Given the description of an element on the screen output the (x, y) to click on. 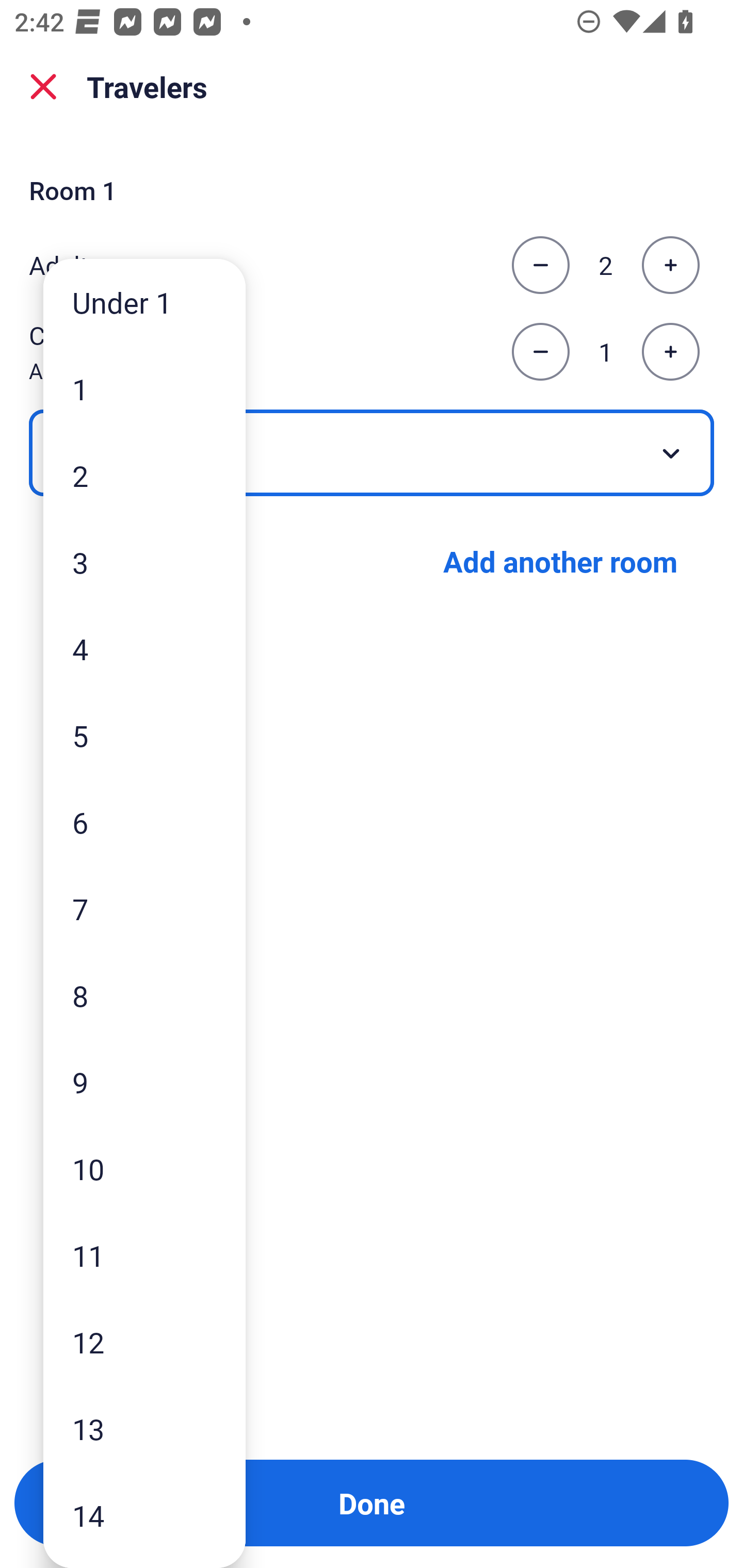
Under 1 (144, 301)
1 (144, 388)
2 (144, 475)
3 (144, 562)
4 (144, 648)
5 (144, 735)
6 (144, 822)
7 (144, 908)
8 (144, 994)
9 (144, 1081)
10 (144, 1168)
11 (144, 1255)
12 (144, 1342)
13 (144, 1429)
14 (144, 1515)
